Given the description of an element on the screen output the (x, y) to click on. 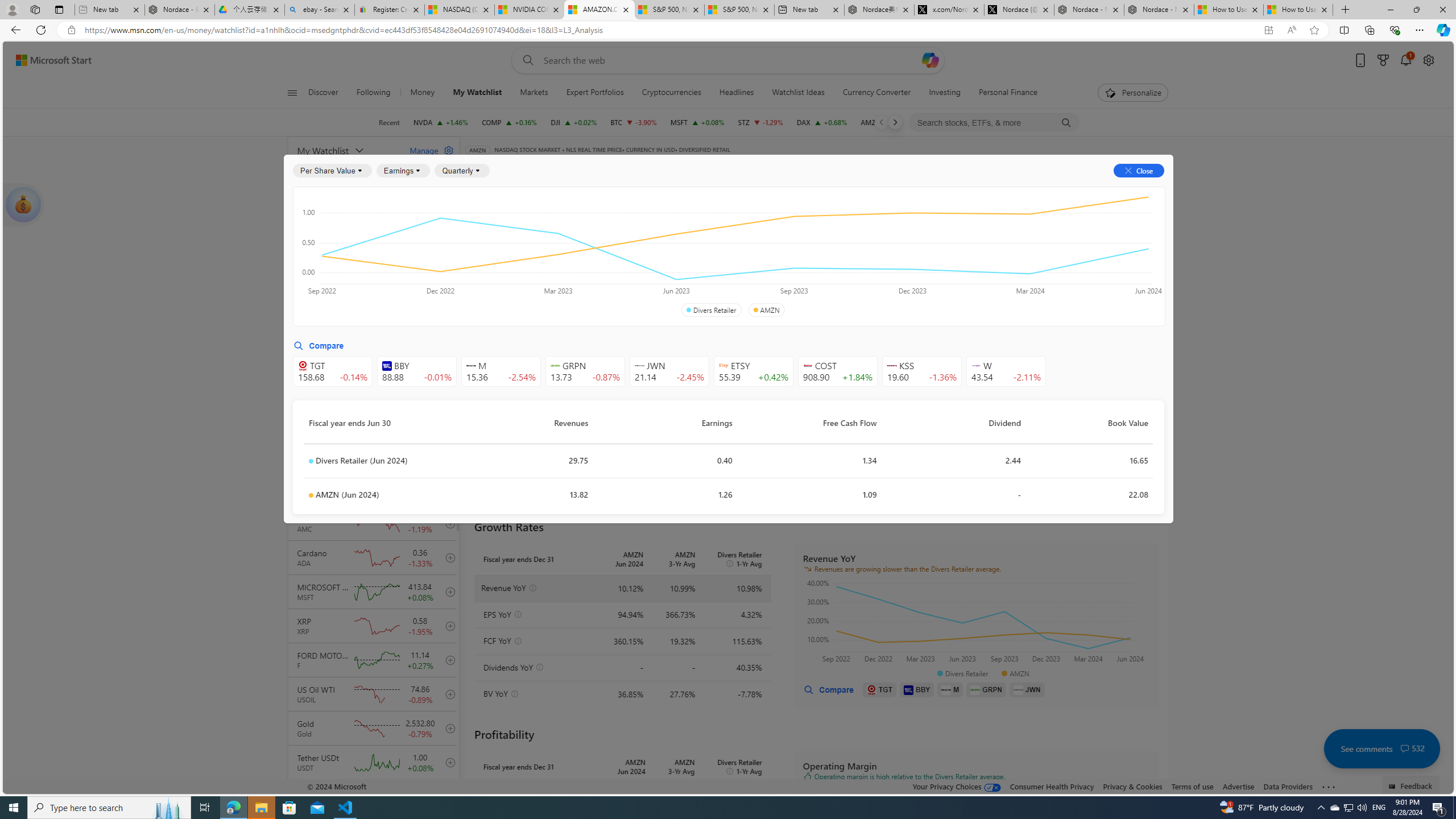
Investors (1009, 188)
Open Copilot (930, 59)
Open navigation menu (292, 92)
Analysis (901, 188)
Skip to footer (46, 59)
Currency Converter (876, 92)
Headlines (736, 92)
Quarterly (461, 170)
How to Use a Monitor With Your Closed Laptop (1297, 9)
Close (1442, 9)
Investing (944, 92)
Class: oneFooter_seeMore-DS-EntryPoint1-1 (1328, 786)
